Given the description of an element on the screen output the (x, y) to click on. 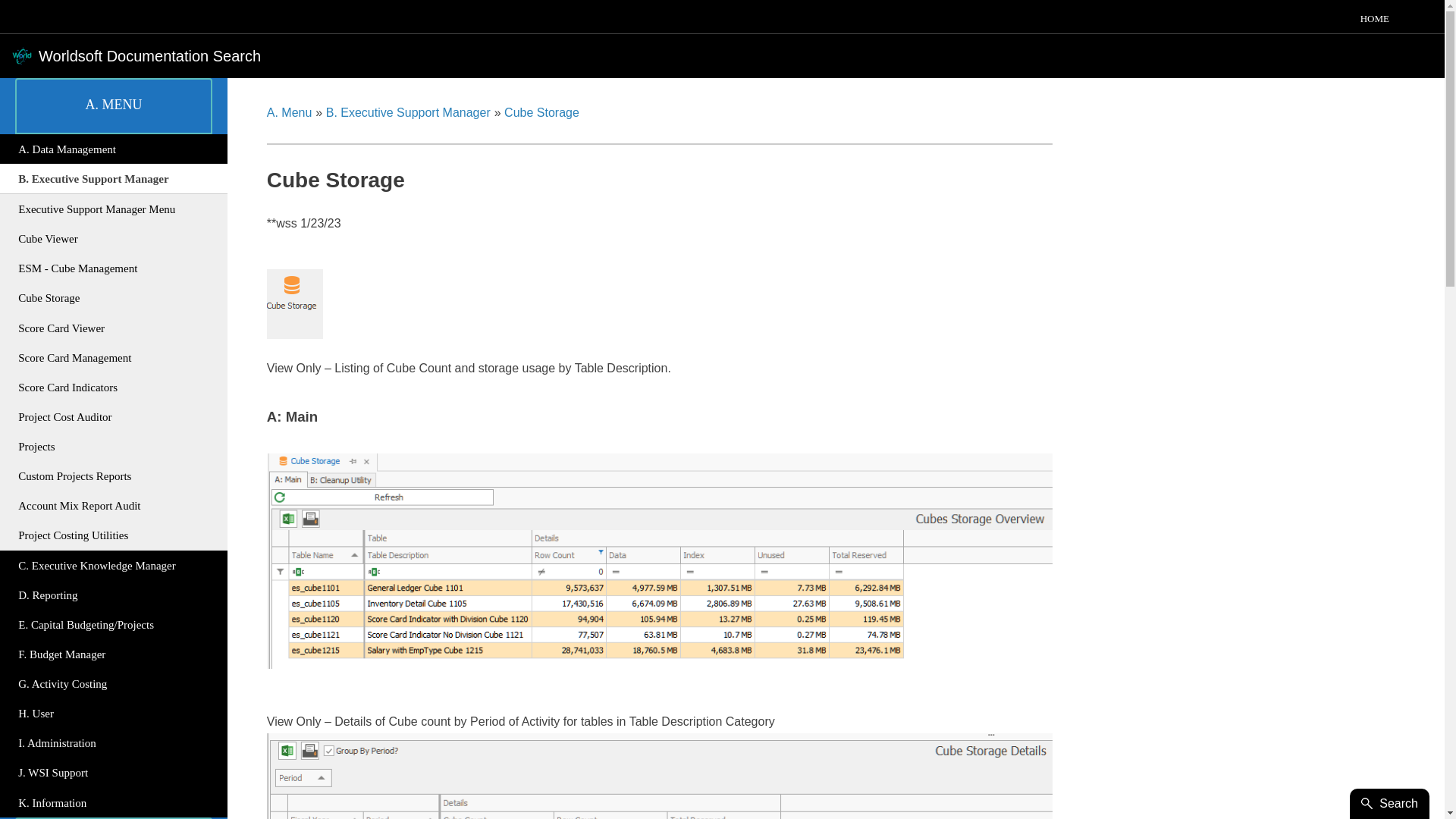
ESM - Cube Management (113, 268)
Score Card Viewer (113, 327)
Score Card Indicators (113, 387)
Cube Viewer (113, 238)
Projects (113, 446)
HOME (1375, 18)
B. Executive Support Manager (113, 178)
D. Reporting (113, 594)
Project Costing Utilities (113, 535)
Account Mix Report Audit (113, 505)
